Given the description of an element on the screen output the (x, y) to click on. 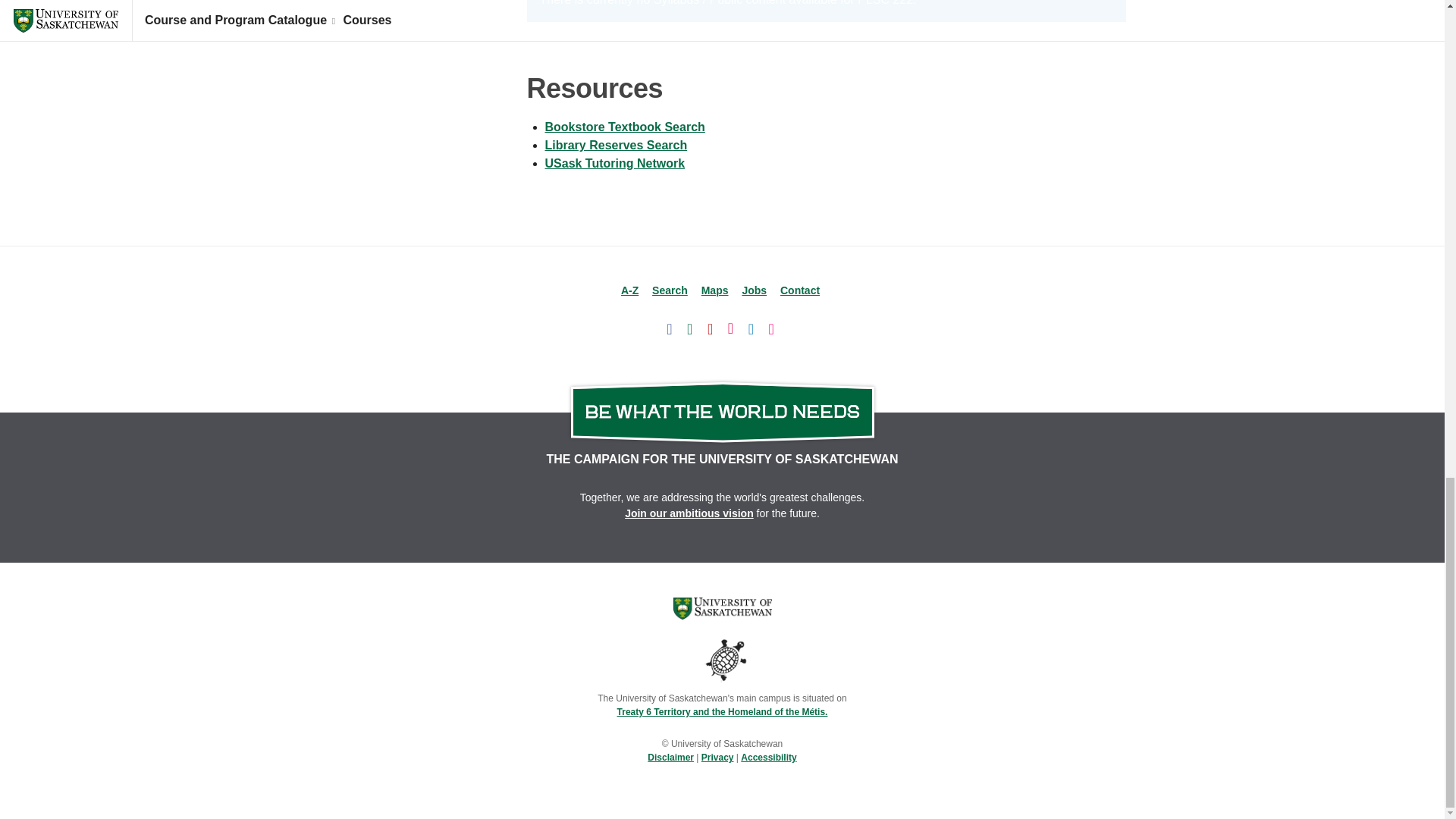
Maps (715, 290)
Bookstore Textbook Search (624, 126)
Library Reserves Search (615, 144)
University of Saskatchewan (721, 608)
Follow on Twitter (690, 328)
Disclaimer (670, 757)
Search (669, 290)
Follow on YouTube (710, 328)
Follow on Flickr (771, 328)
Privacy (717, 757)
Follow on Instagram (730, 328)
Follow on Instagram (730, 328)
USask Tutoring Network (614, 163)
Follow on Twitter (690, 328)
Follow on LinkedIn (751, 328)
